Given the description of an element on the screen output the (x, y) to click on. 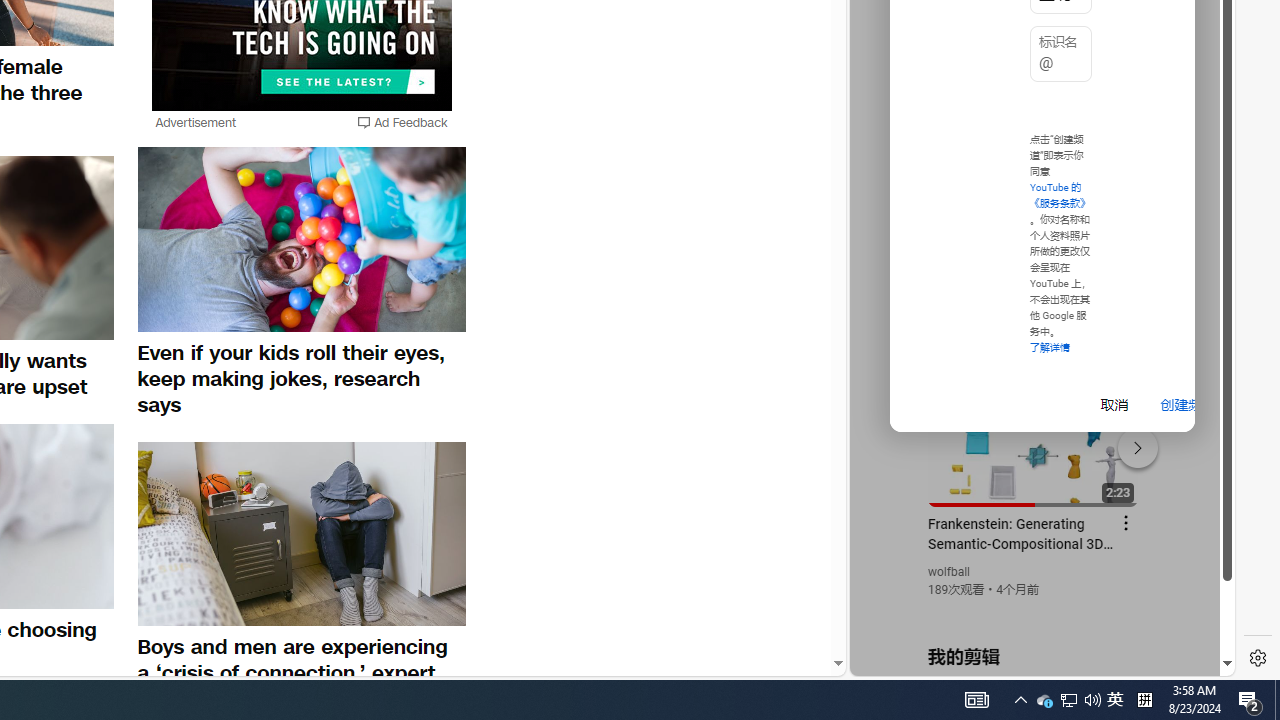
Class: dict_pnIcon rms_img (1028, 660)
